Given the description of an element on the screen output the (x, y) to click on. 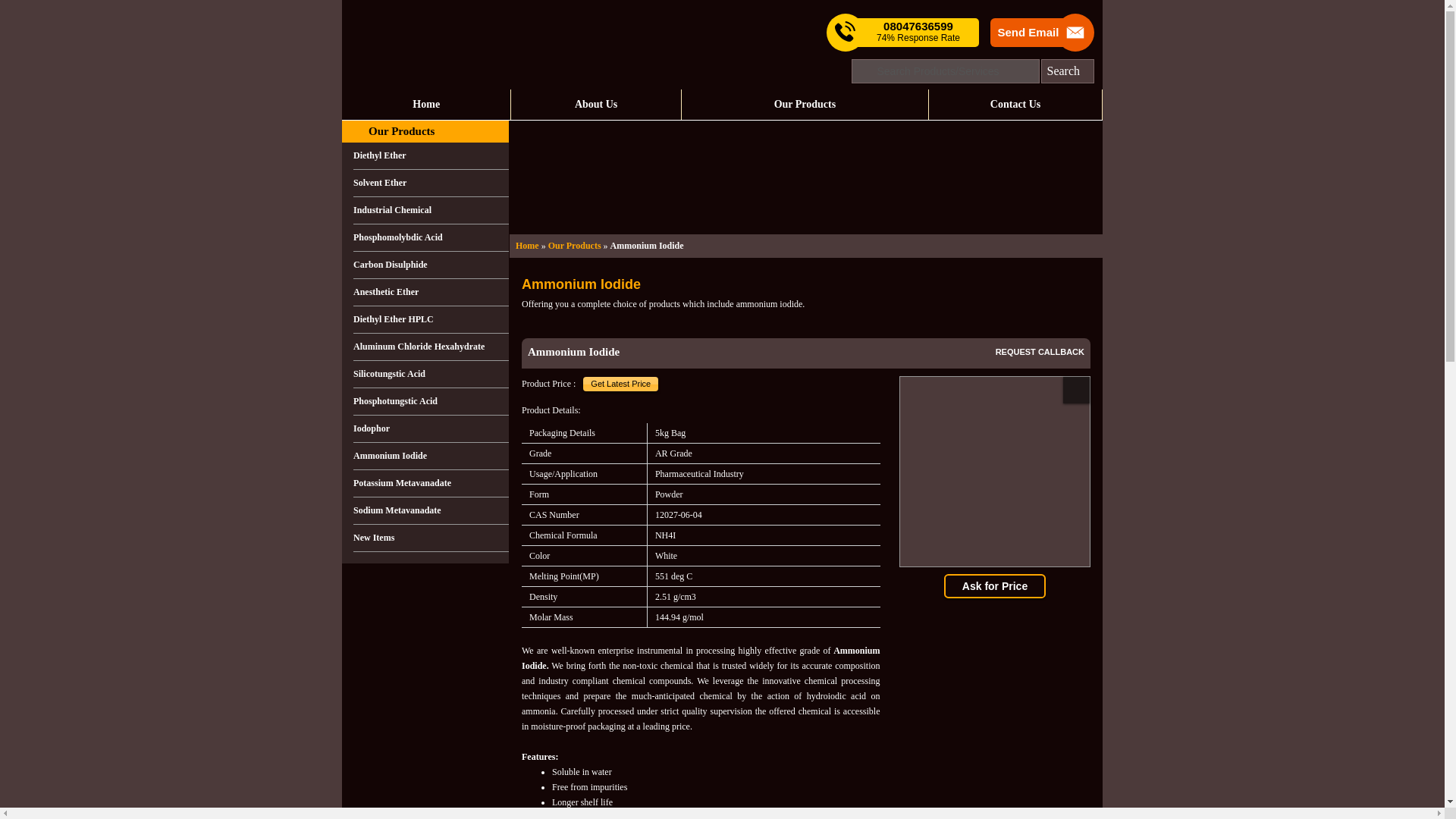
Home (526, 245)
Ammonium Iodide (430, 456)
About Us (595, 104)
Carbon Disulphide (430, 265)
Our Products (804, 104)
Solvent Ether (430, 183)
Aluminum Chloride Hexahydrate (430, 347)
Phosphomolybdic Acid (430, 237)
Phosphotungstic Acid (430, 401)
Industrial Chemical (430, 210)
Iodophor (430, 429)
Home (426, 104)
Our Products (574, 245)
Our Products (400, 131)
Diethyl Ether (430, 155)
